Given the description of an element on the screen output the (x, y) to click on. 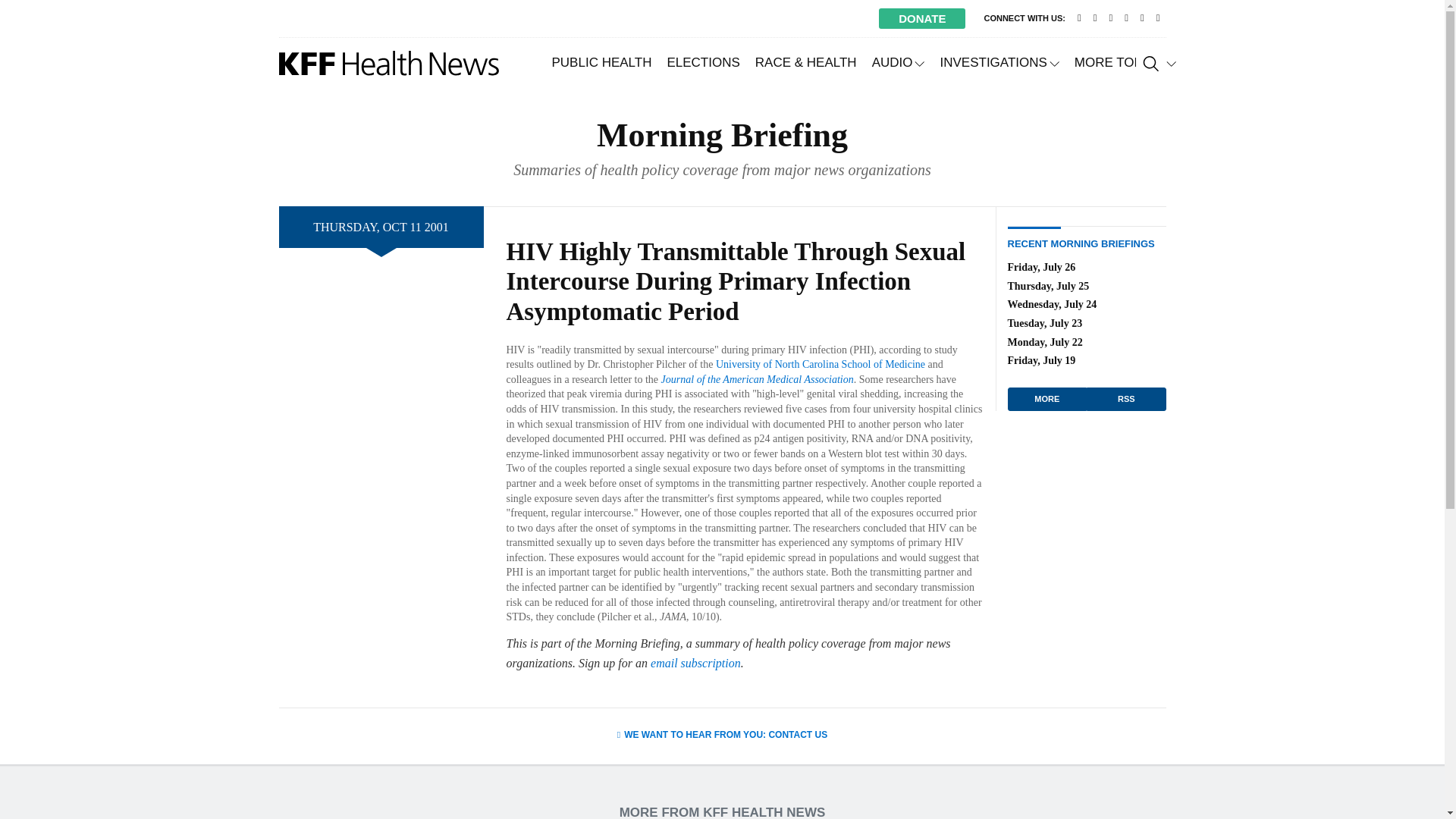
PUBLIC HEALTH (601, 61)
INVESTIGATIONS (998, 61)
Contact (1079, 18)
ELECTIONS (702, 61)
KFF Health News (389, 63)
DONATE (922, 18)
RSS (1158, 18)
Instagram (1142, 18)
Contact (1079, 18)
Twitter (1095, 18)
LinkedIn (1126, 18)
Twitter (1095, 18)
LinkedIn (1126, 18)
Facebook (1110, 18)
